Given the description of an element on the screen output the (x, y) to click on. 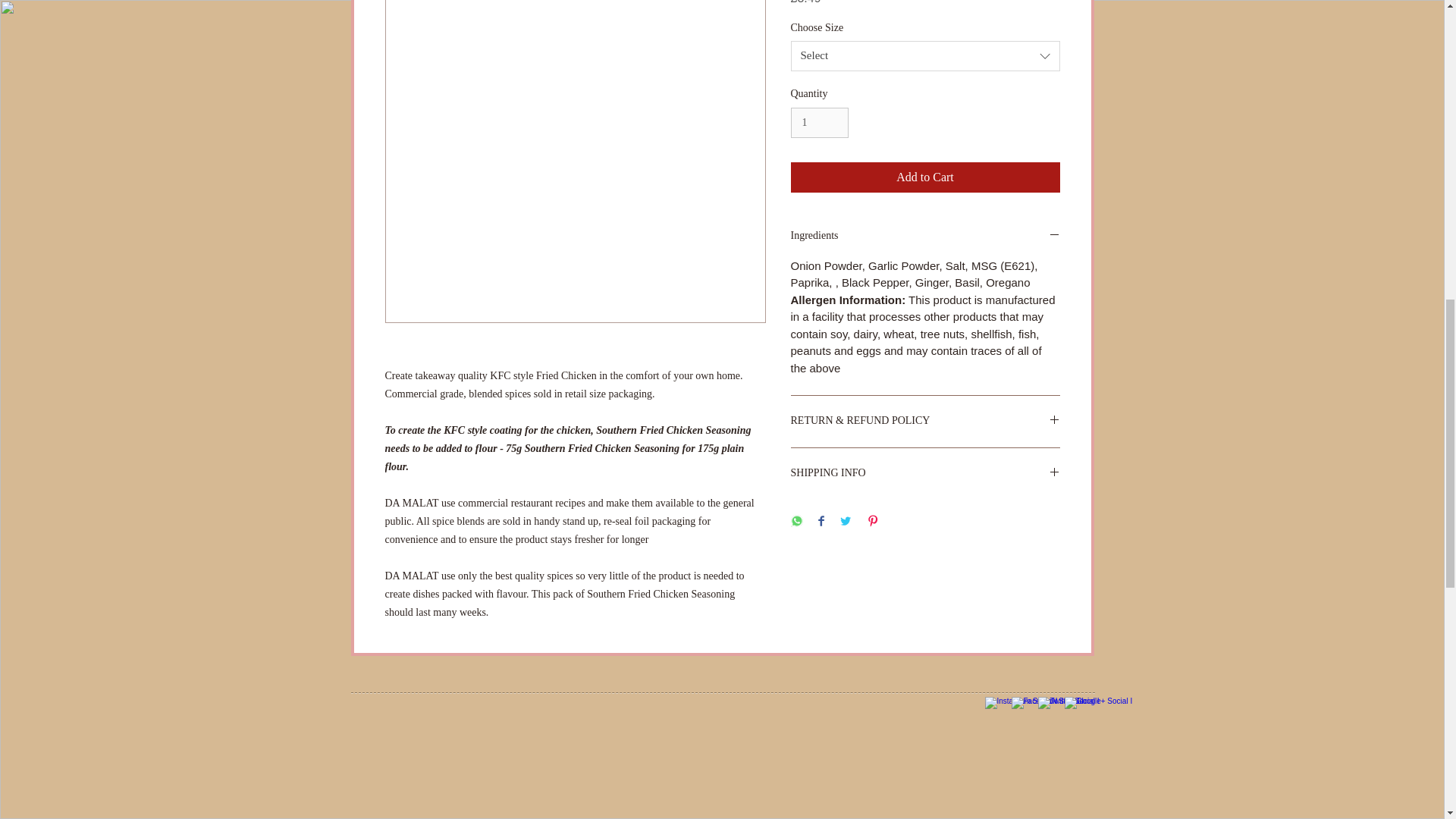
Add to Cart (924, 177)
Select (924, 55)
SHIPPING INFO (924, 473)
Ingredients (924, 236)
1 (818, 122)
